Given the description of an element on the screen output the (x, y) to click on. 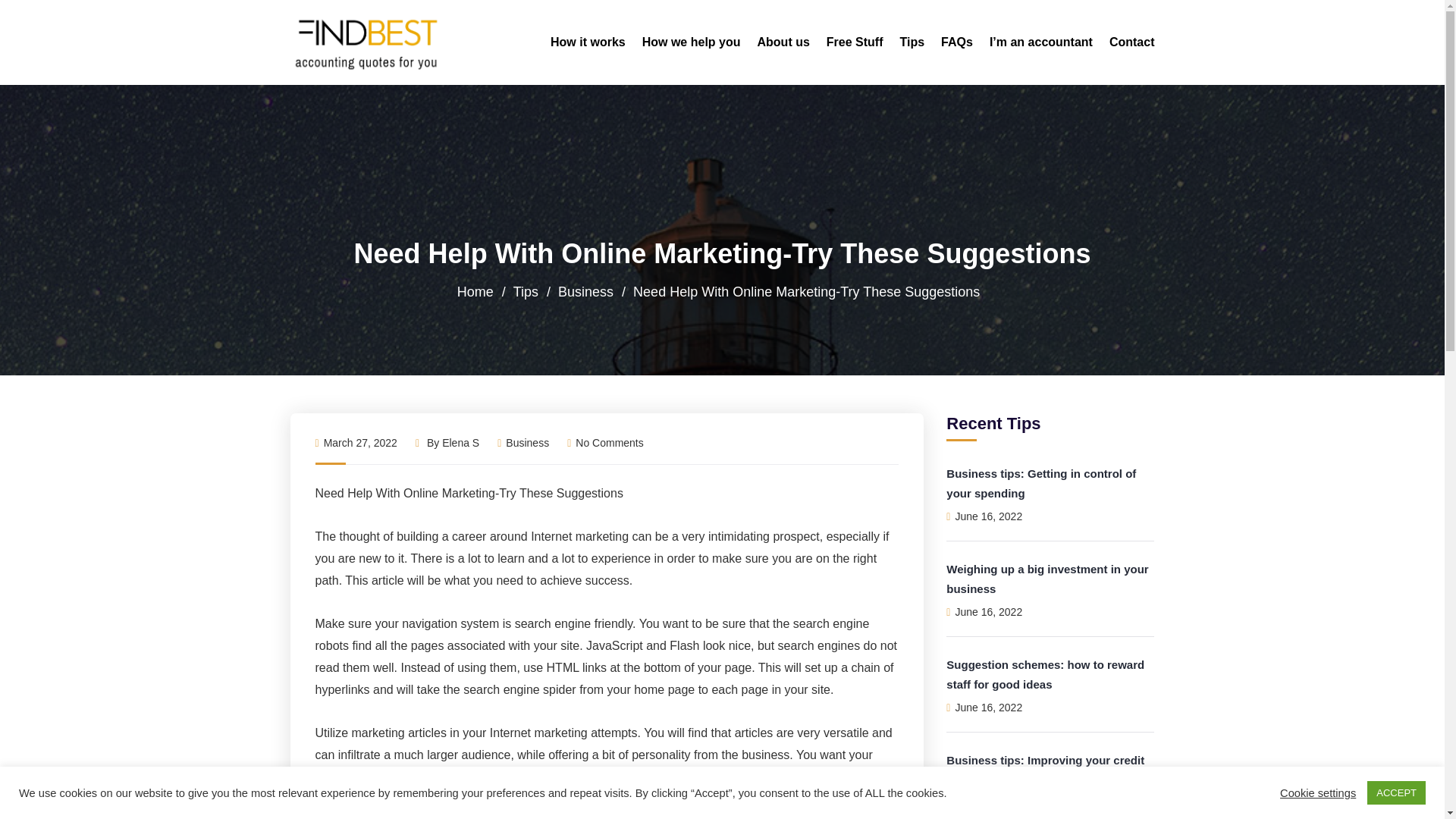
Weighing up a big investment in your business (1047, 578)
No Comments (605, 442)
Home (475, 291)
Business (584, 291)
Business tips: Getting in control of your spending (1040, 482)
How we help you (691, 42)
How it works (588, 42)
Tips (525, 291)
Posts by Elena S (460, 442)
Weighing up a big investment in your business (1047, 578)
Business tips: Getting in control of your spending (1040, 482)
Business tips: Improving your credit score (1045, 769)
Suggestion schemes: how to reward staff for good ideas (1045, 674)
Free Stuff (855, 42)
Find Best Accounting Quotes For You (367, 42)
